Given the description of an element on the screen output the (x, y) to click on. 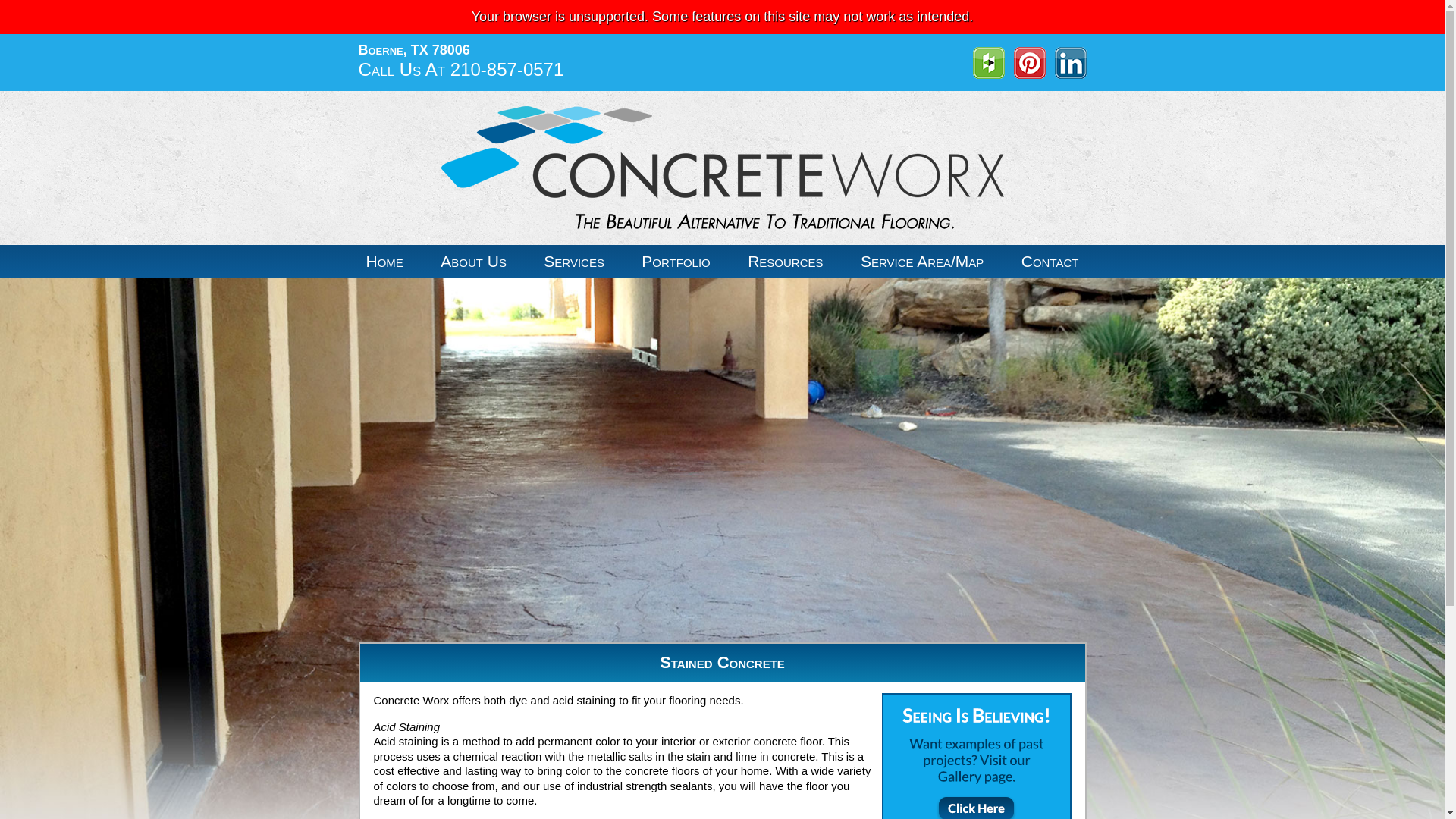
Contact (1049, 261)
About Us (472, 261)
Portfolio (675, 261)
Concrete Worx (722, 168)
Home (384, 261)
Resources (784, 261)
Services (573, 261)
